Given the description of an element on the screen output the (x, y) to click on. 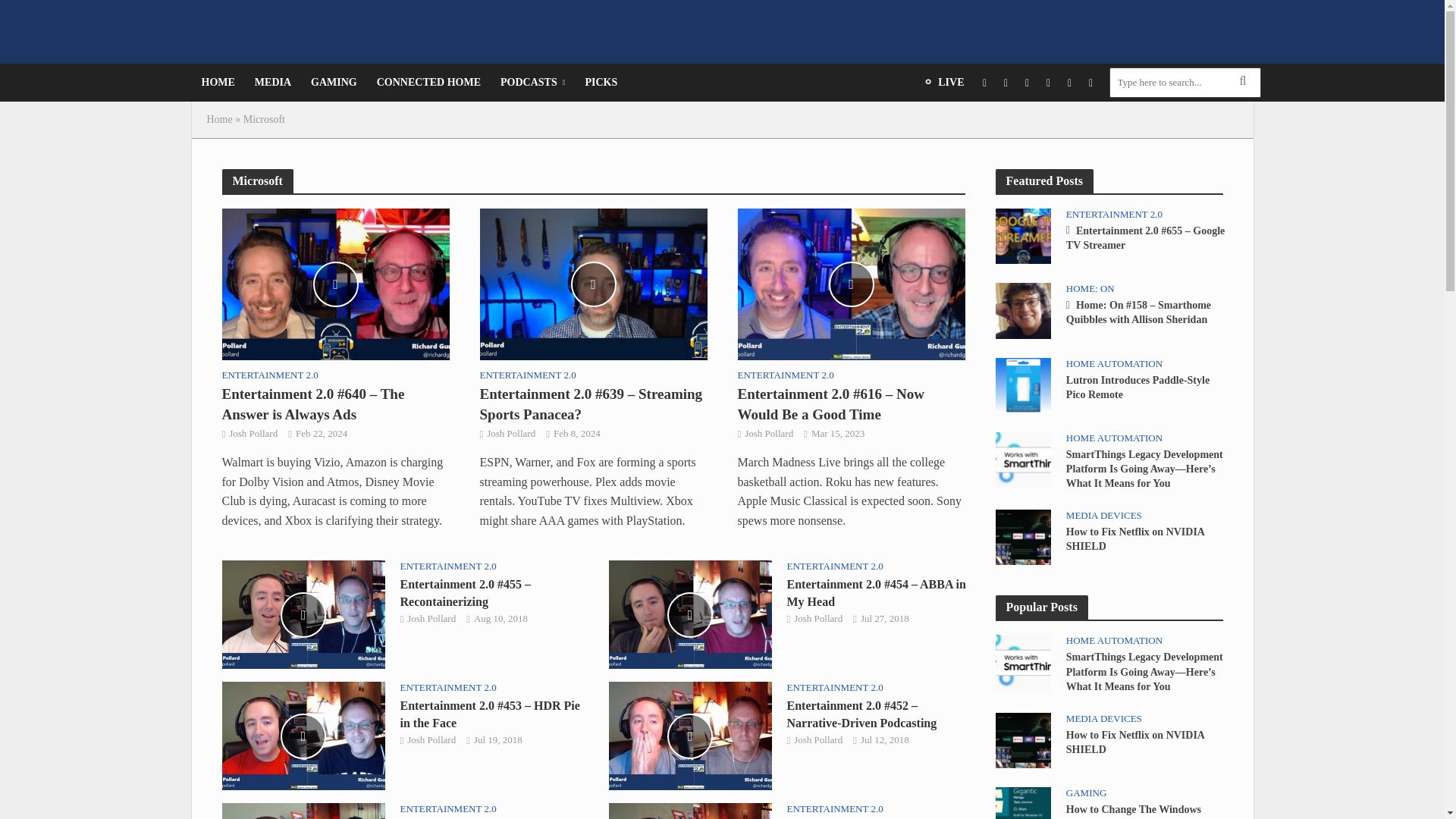
HOME (217, 82)
PODCASTS (532, 82)
MEDIA (272, 82)
GAMING (333, 82)
PICKS (601, 82)
CONNECTED HOME (428, 82)
